Given the description of an element on the screen output the (x, y) to click on. 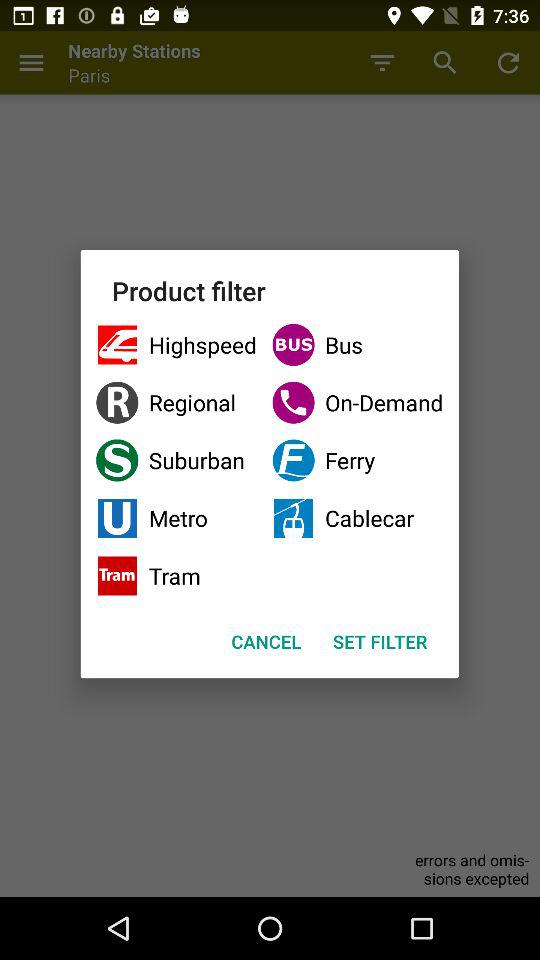
select cancel button (266, 641)
